Given the description of an element on the screen output the (x, y) to click on. 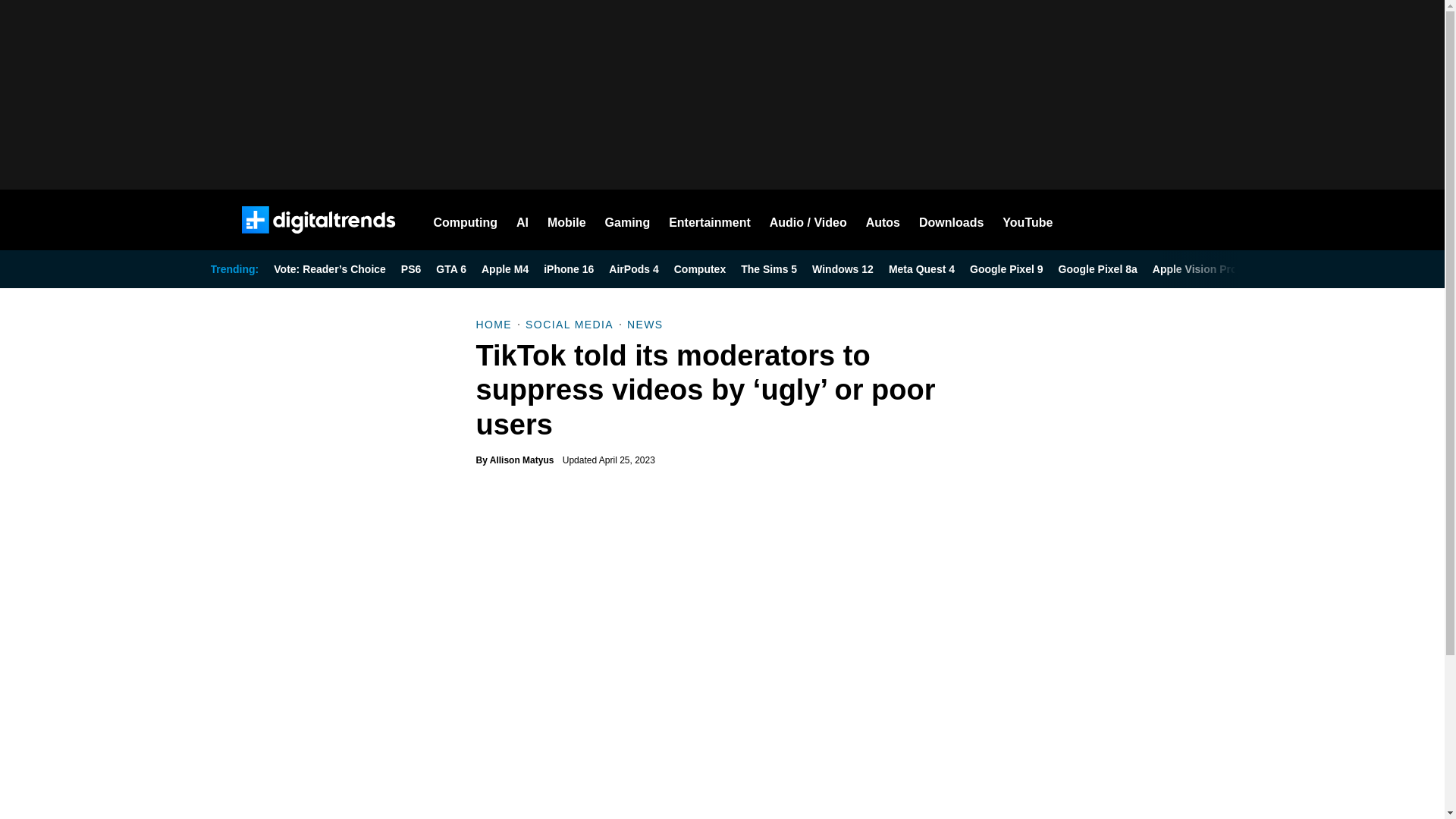
Downloads (951, 219)
Computing (465, 219)
Entertainment (709, 219)
